Given the description of an element on the screen output the (x, y) to click on. 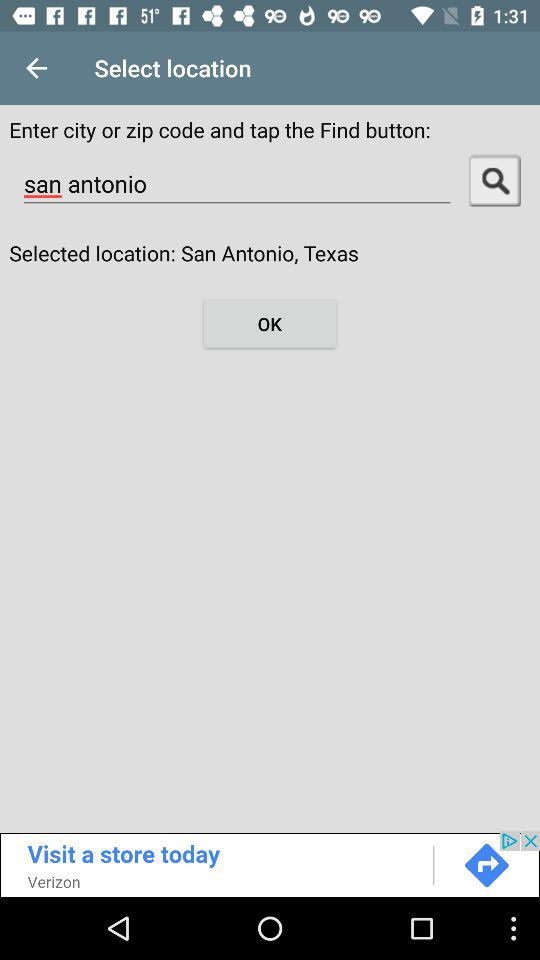
visit the store (270, 864)
